Given the description of an element on the screen output the (x, y) to click on. 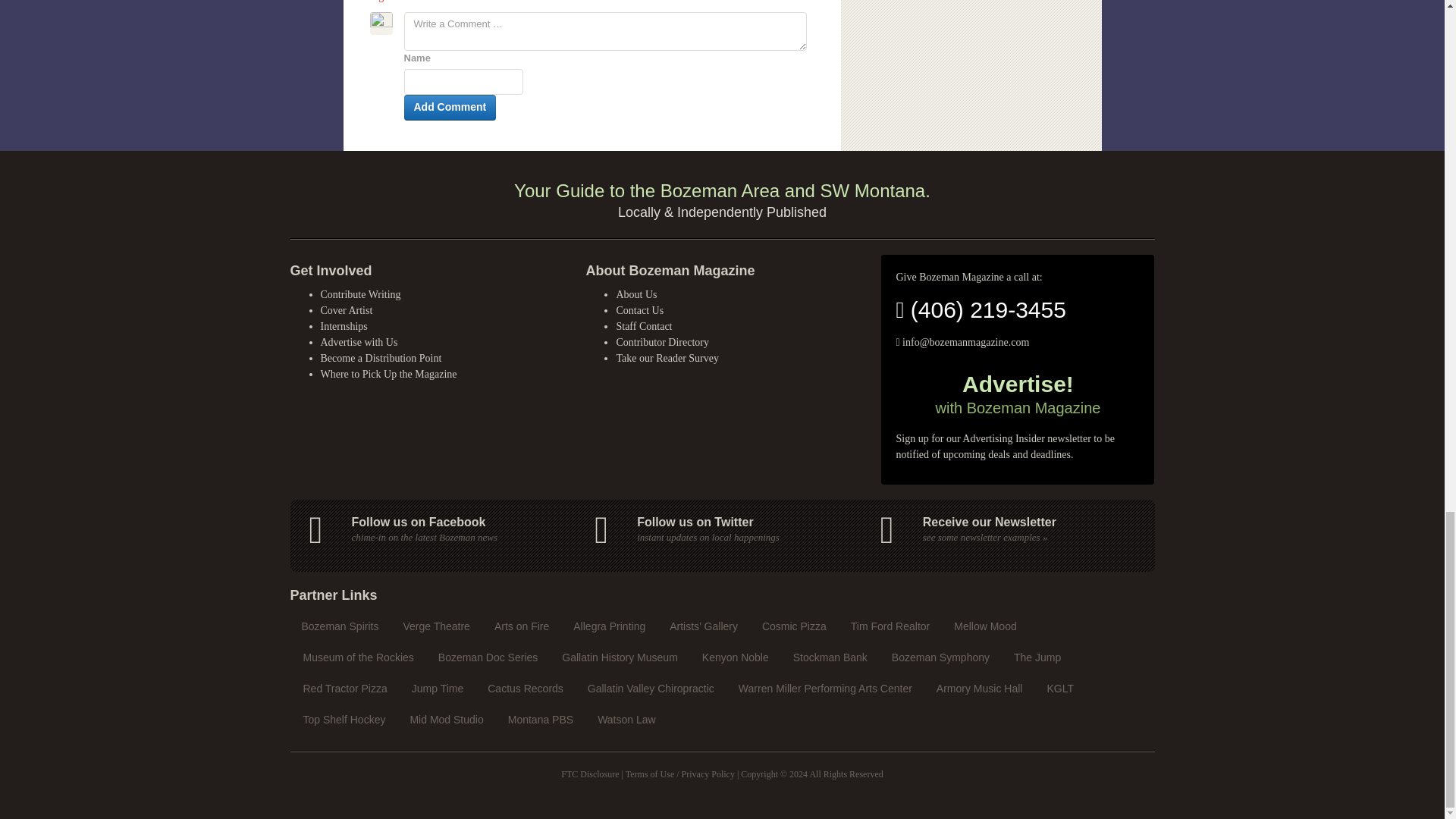
Newsletter (1011, 530)
Facebook (440, 530)
Twitter (725, 530)
